Given the description of an element on the screen output the (x, y) to click on. 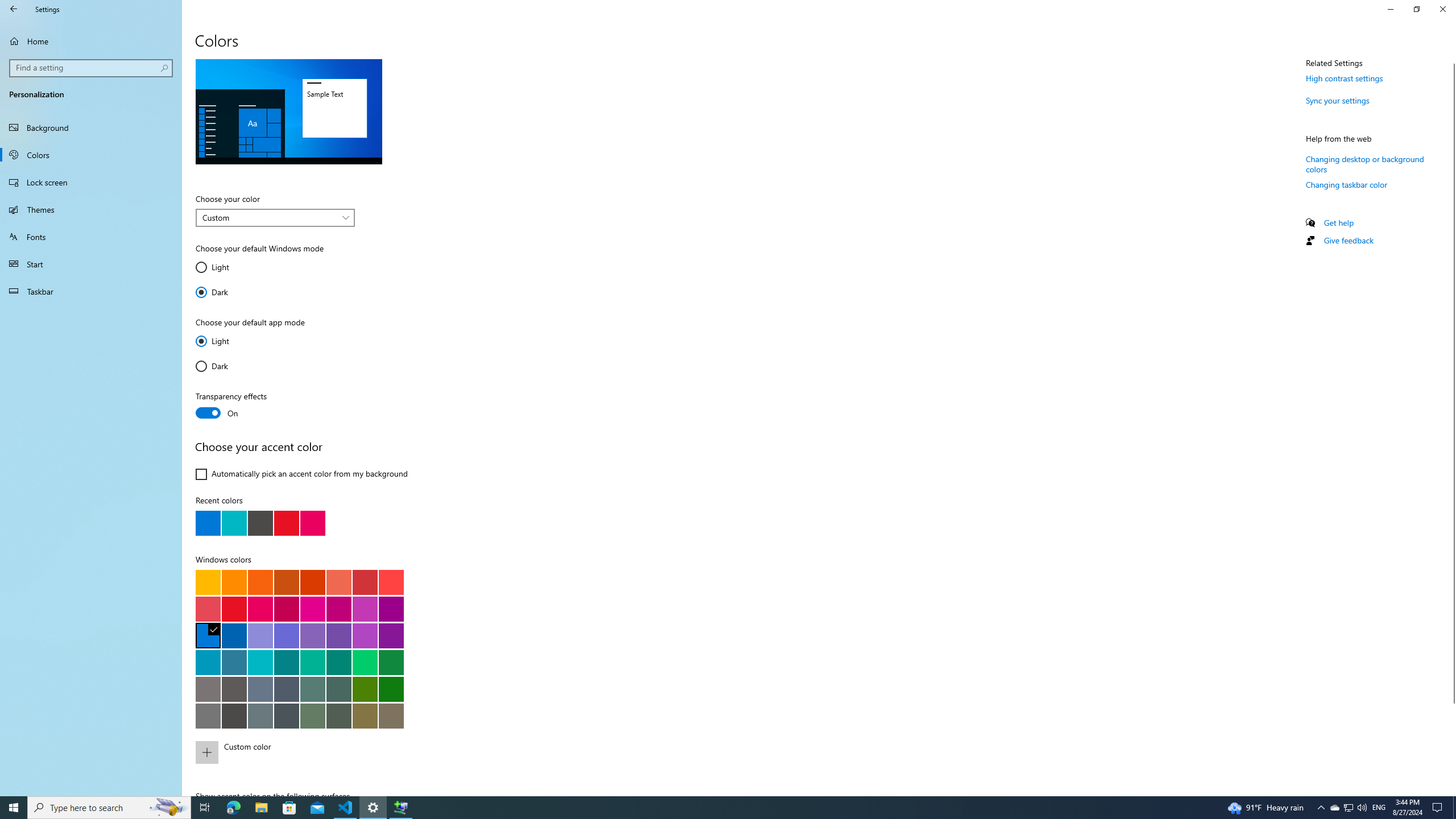
Camouflage (390, 715)
Orchid (390, 608)
Seafoam teal (285, 661)
Orange dark (285, 581)
Custom (269, 217)
Camouflage desert (364, 715)
Moss (338, 688)
Purple shadow (260, 635)
Extensible Wizards Host Process - 1 running window (400, 807)
Gray (208, 688)
Sport green (390, 661)
Red (234, 608)
Fonts (91, 236)
